Given the description of an element on the screen output the (x, y) to click on. 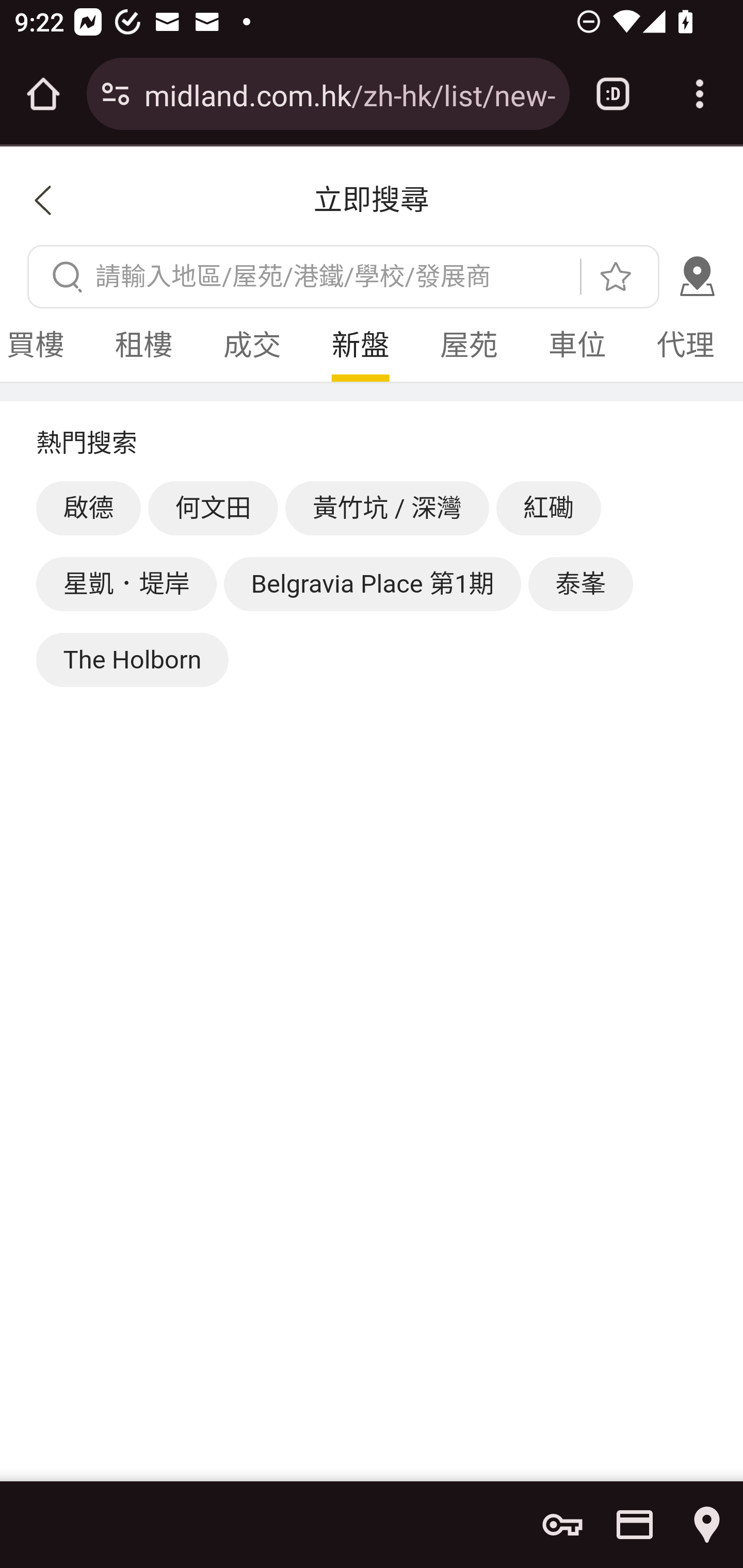
Open the home page (43, 93)
Connection is secure (115, 93)
Switch or close tabs (612, 93)
Customize and control Google Chrome (699, 93)
%E6%90%9C%E5%B0%8B-H-76f0df1 (687, 275)
買樓 (45, 345)
租樓 (143, 345)
成交 (251, 345)
新盤 (359, 345)
屋苑 (468, 345)
車位 (576, 345)
代理 (685, 345)
Show saved passwords and password options (562, 1524)
Show saved payment methods (634, 1524)
Show saved addresses (706, 1524)
